Given the description of an element on the screen output the (x, y) to click on. 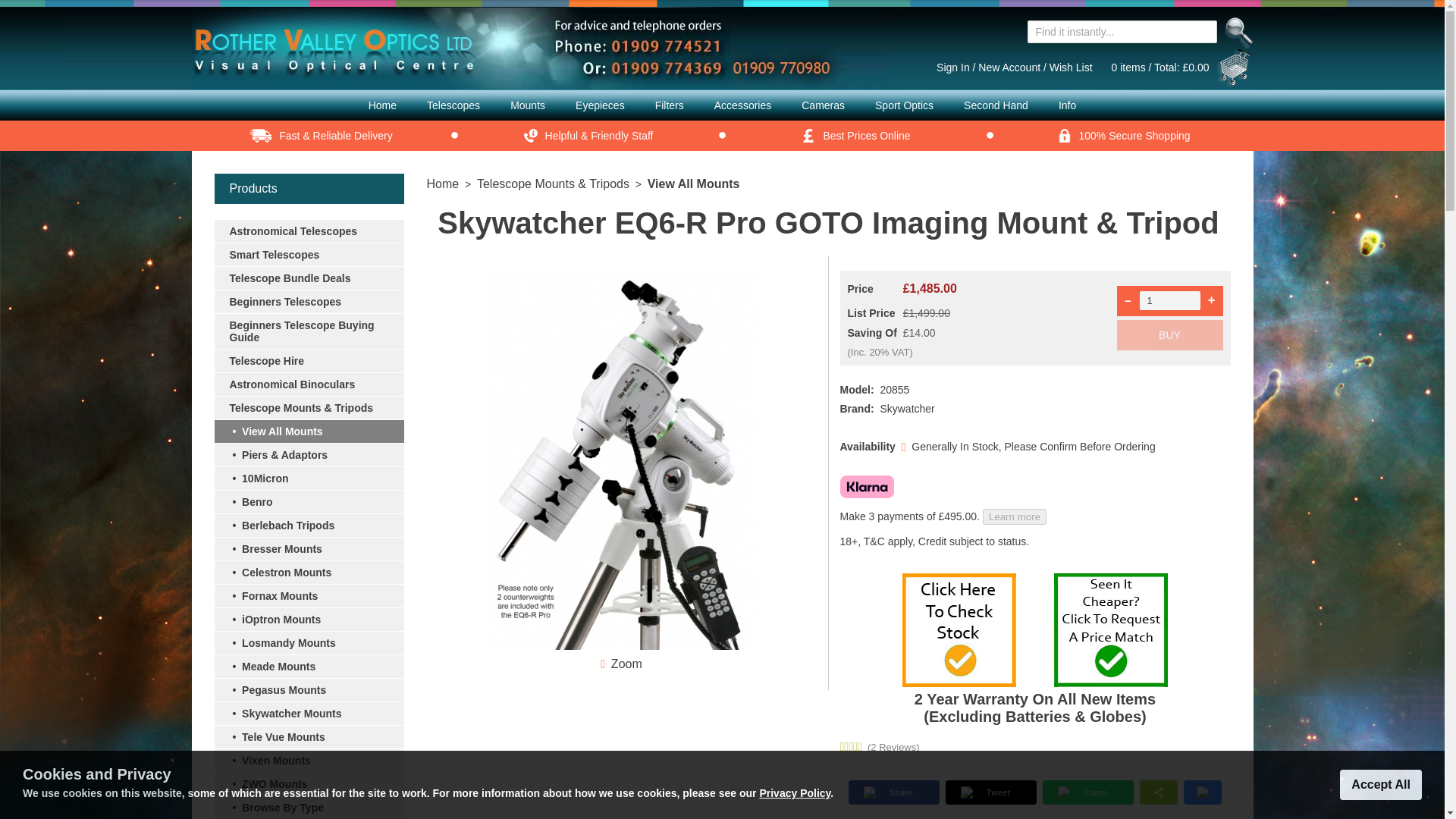
Telescope Bundle Deals (308, 277)
Astronomical Binoculars (308, 383)
Telescope Hire (308, 360)
Beginners Telescopes (308, 300)
Beginners Telescope Buying Guide (308, 330)
Smart Telescopes (308, 254)
Astronomical Telescopes (308, 230)
1 (1168, 300)
